Given the description of an element on the screen output the (x, y) to click on. 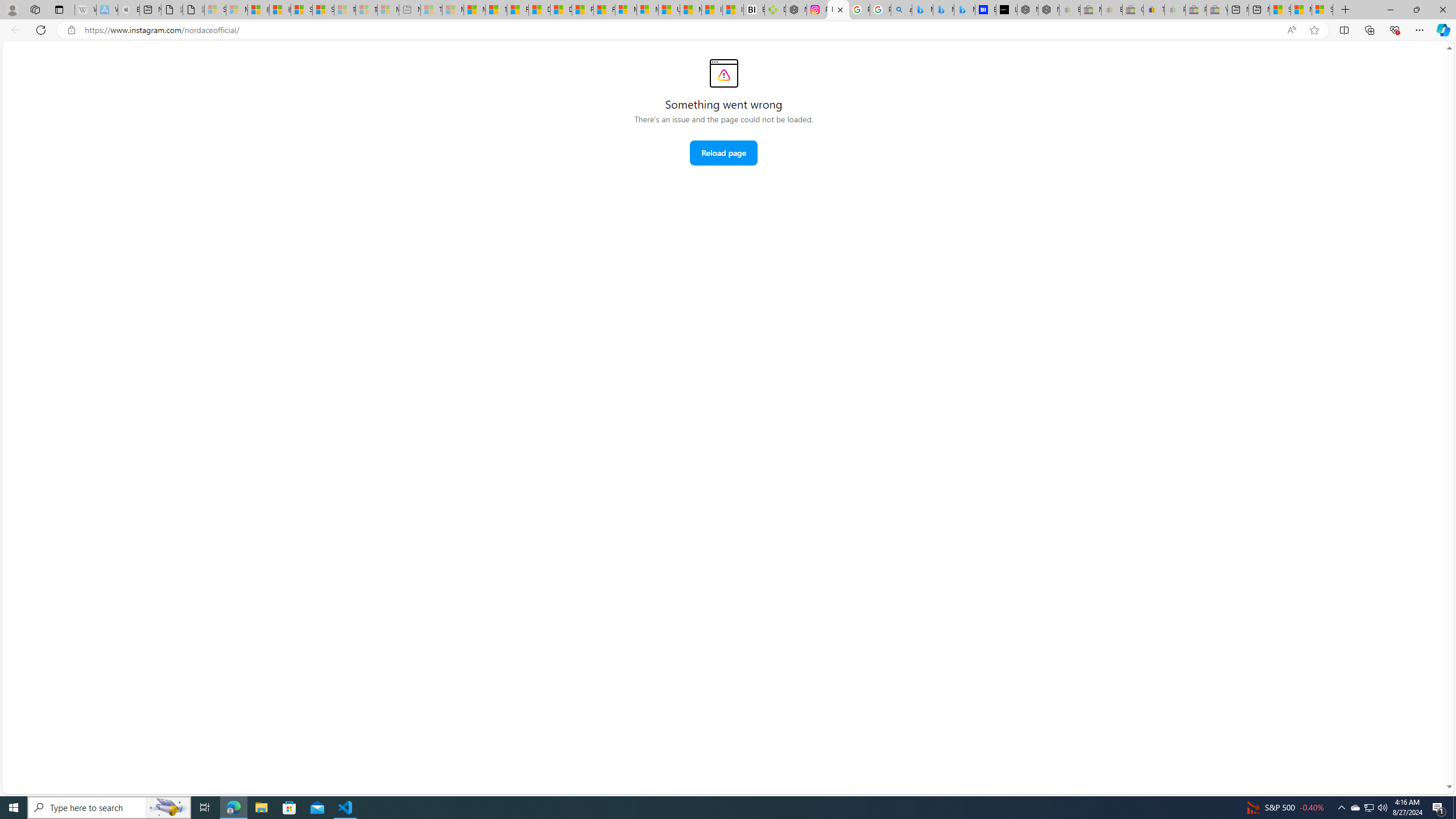
Microsoft Bing Travel - Flights from Hong Kong to Bangkok (922, 9)
Microsoft Bing Travel - Shangri-La Hotel Bangkok (964, 9)
Reload page (723, 152)
Nordace - Nordace Edin Collection (795, 9)
Microsoft account | Account Checkup - Sleeping (387, 9)
